Given the description of an element on the screen output the (x, y) to click on. 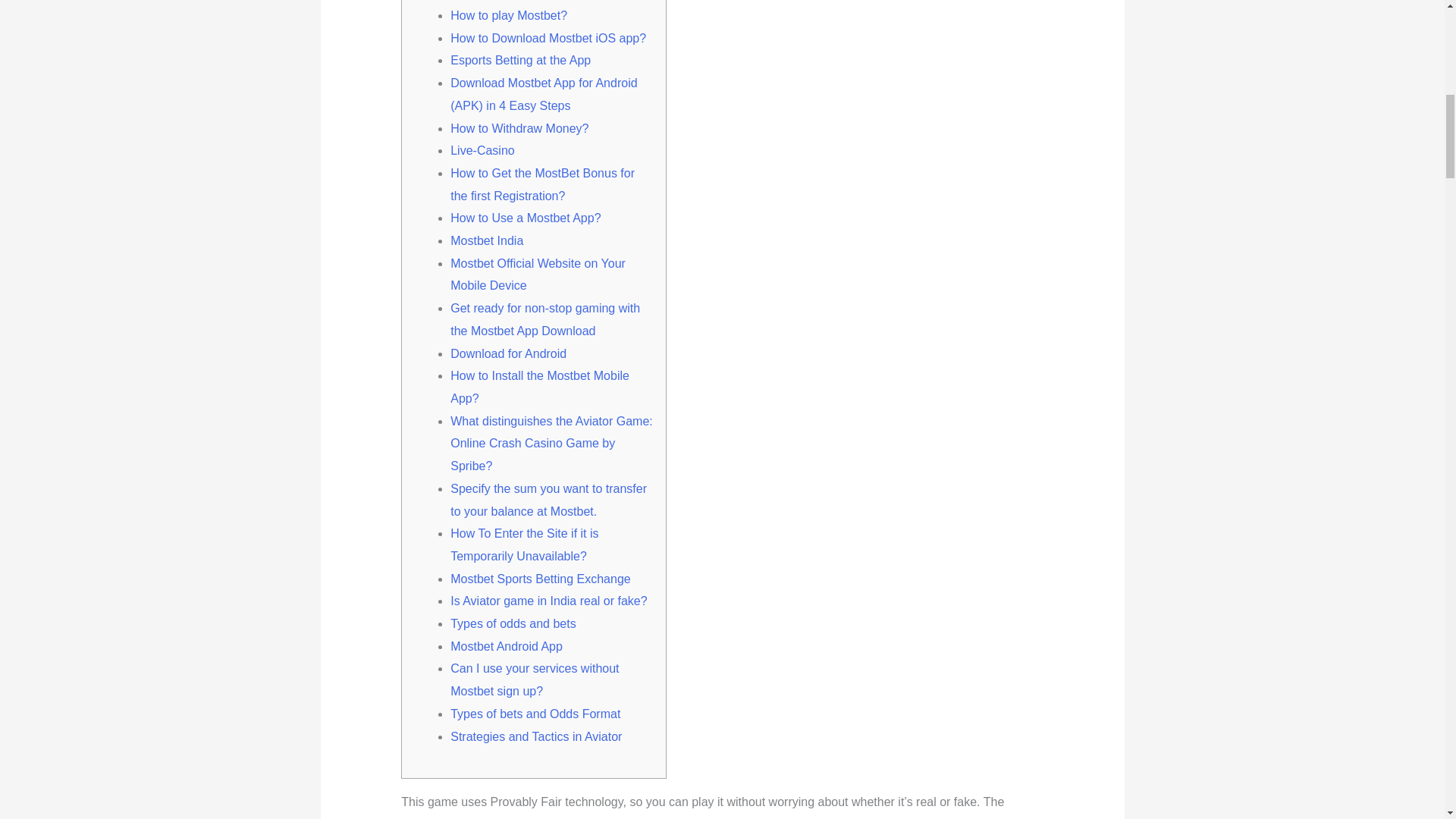
Types of odds and bets (512, 623)
How To Enter the Site if it is Temporarily Unavailable? (523, 544)
Mostbet Official Website on Your Mobile Device (537, 274)
Mostbet India (485, 240)
How to Withdraw Money? (518, 128)
Get ready for non-stop gaming with the Mostbet App Download (544, 319)
How to Use a Mostbet App? (524, 217)
Live-Casino (481, 150)
Is Aviator game in India real or fake? (547, 600)
Download for Android (507, 353)
Mostbet Android App (505, 645)
How to Install the Mostbet Mobile App? (538, 386)
How to play Mostbet? (508, 15)
Mostbet Sports Betting Exchange (539, 578)
